Given the description of an element on the screen output the (x, y) to click on. 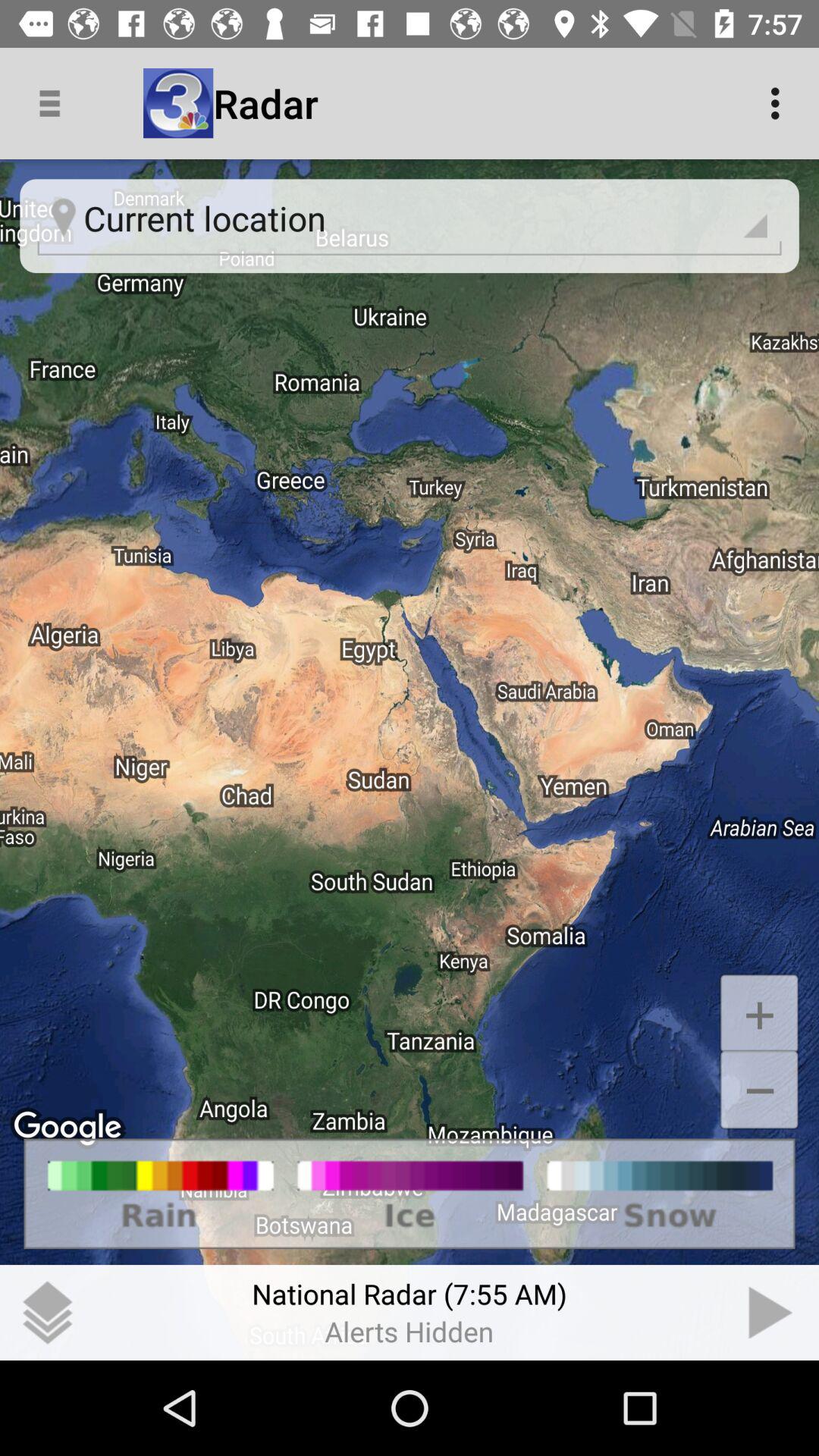
go to next (771, 1312)
